Given the description of an element on the screen output the (x, y) to click on. 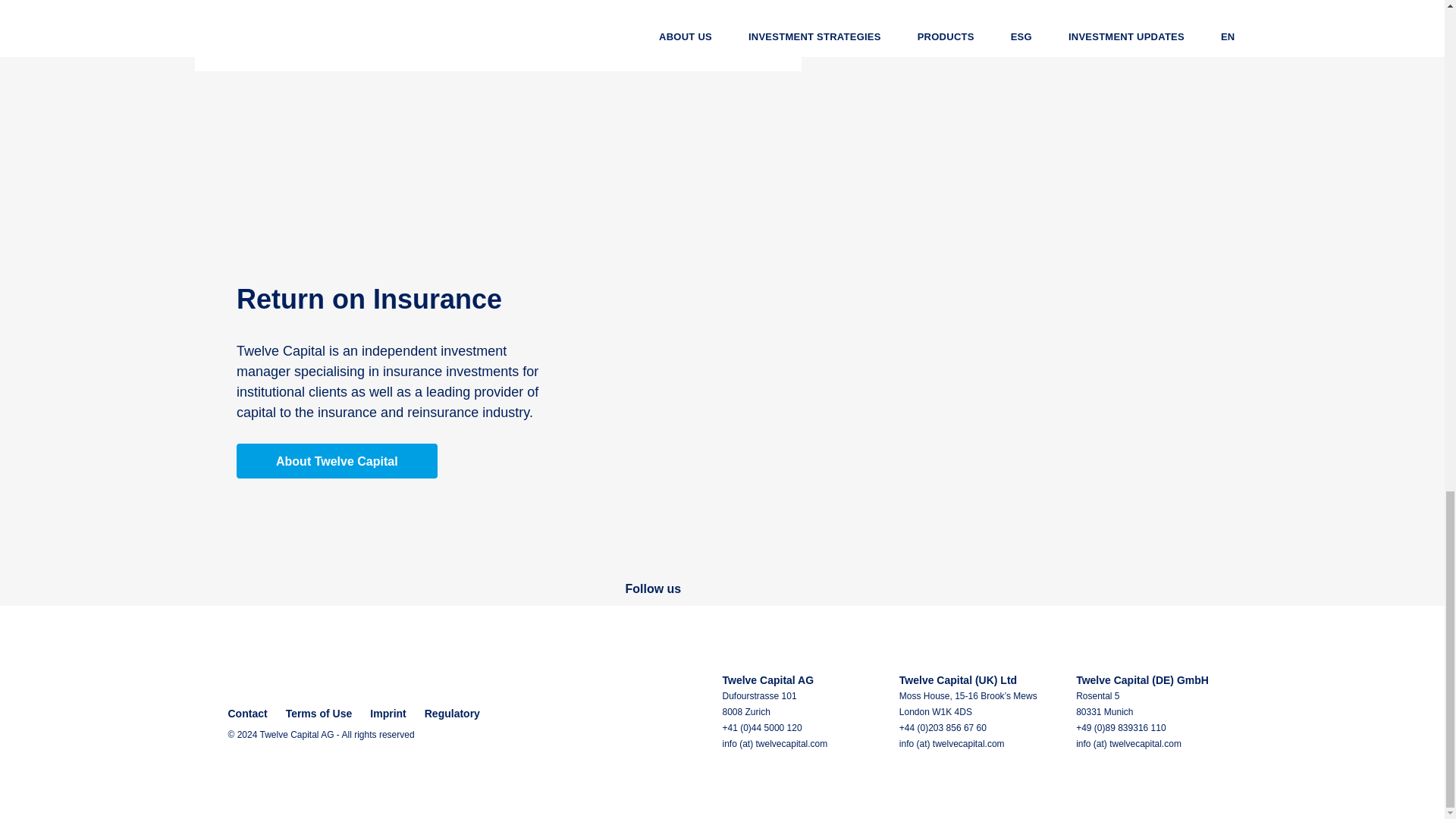
Contact (246, 713)
About Twelve Capital (336, 460)
Terms of Use (318, 713)
